Given the description of an element on the screen output the (x, y) to click on. 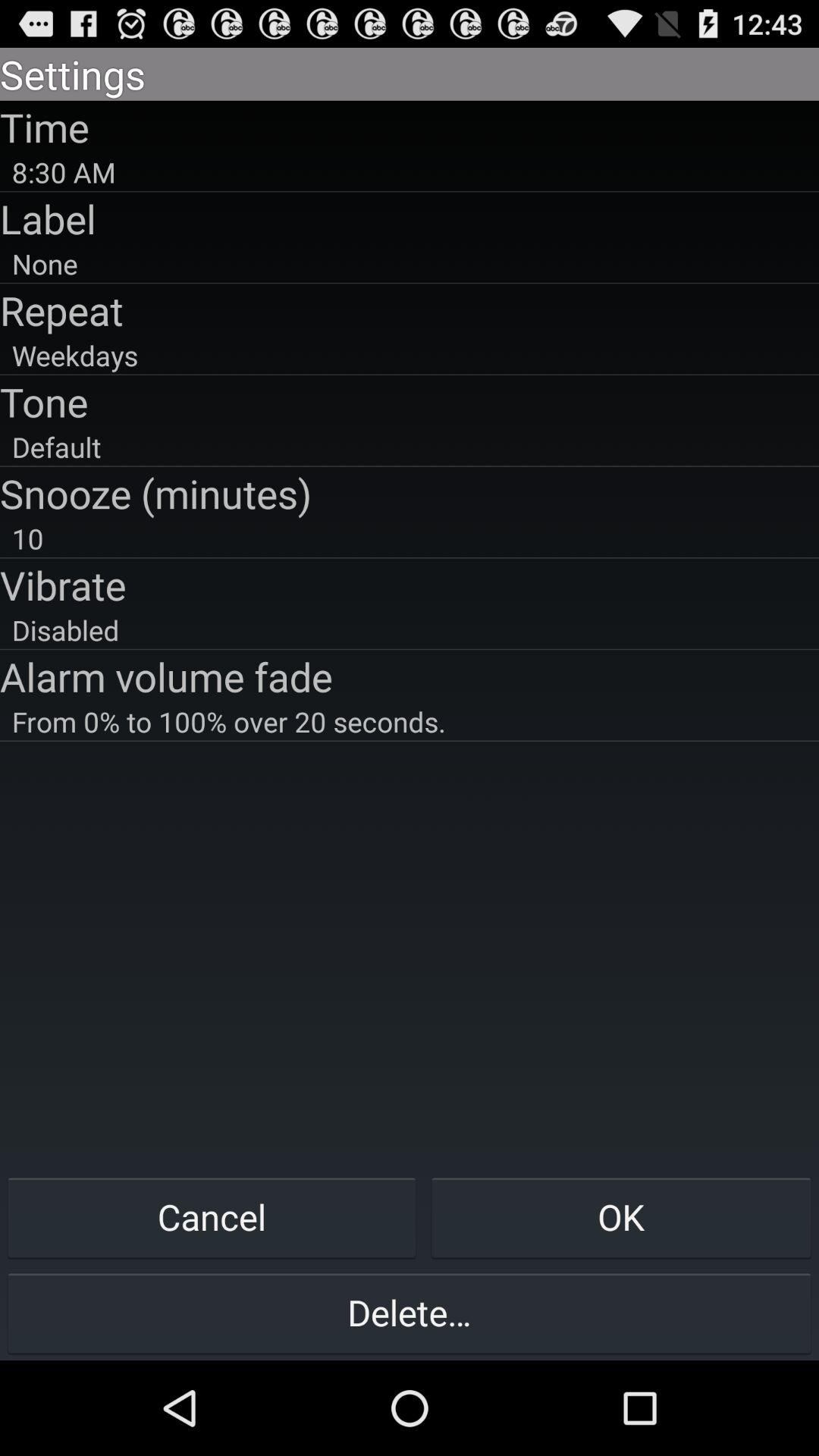
click alarm volume fade icon (409, 676)
